Given the description of an element on the screen output the (x, y) to click on. 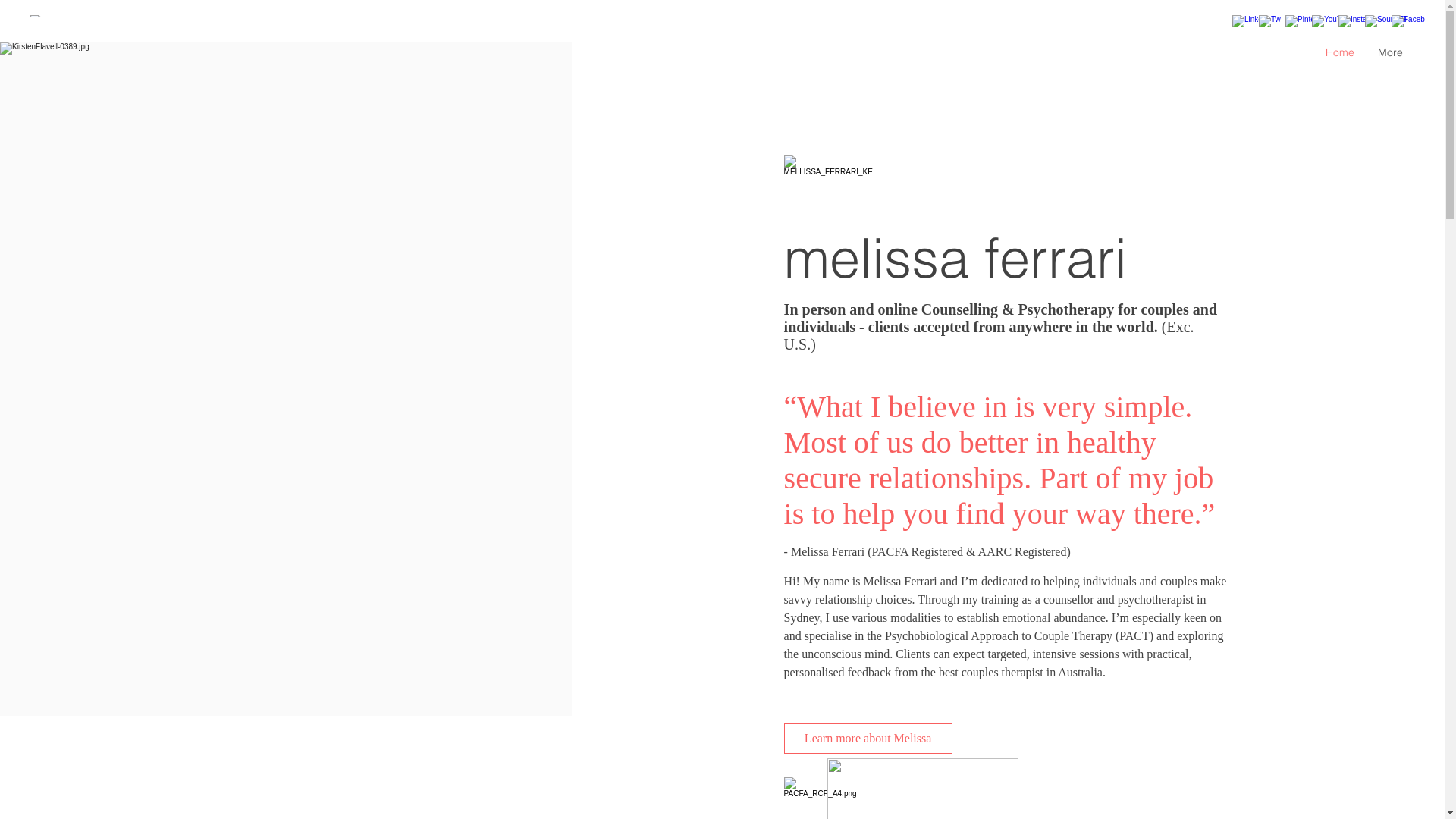
Learn more about Melissa Element type: text (868, 738)
Home Element type: text (1339, 46)
